Given the description of an element on the screen output the (x, y) to click on. 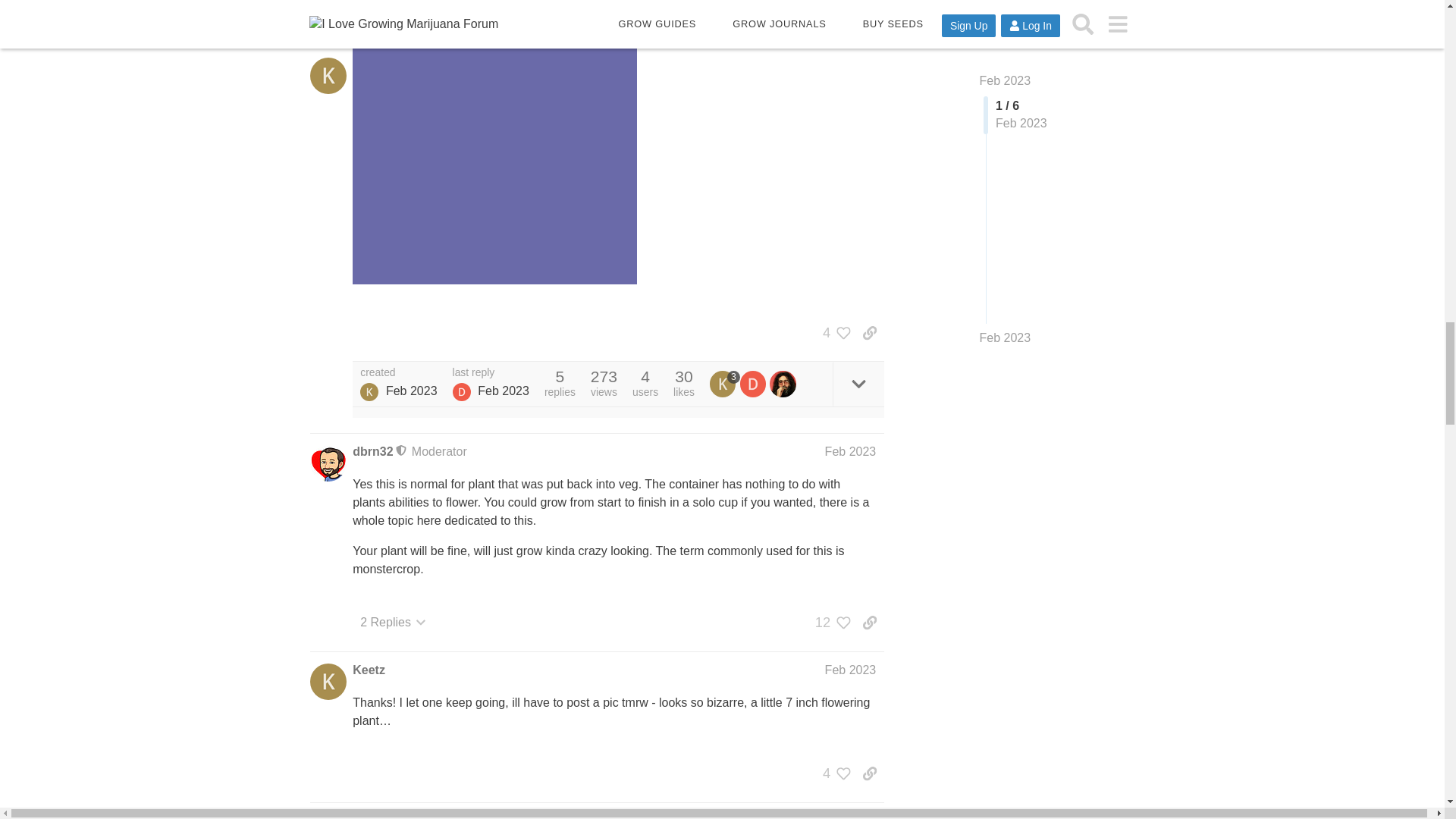
4 (832, 332)
16752203092115763681048559117389 (494, 142)
4 people liked this post (832, 332)
last reply (490, 372)
copy a link to this post to clipboard (869, 332)
3 (724, 383)
